Given the description of an element on the screen output the (x, y) to click on. 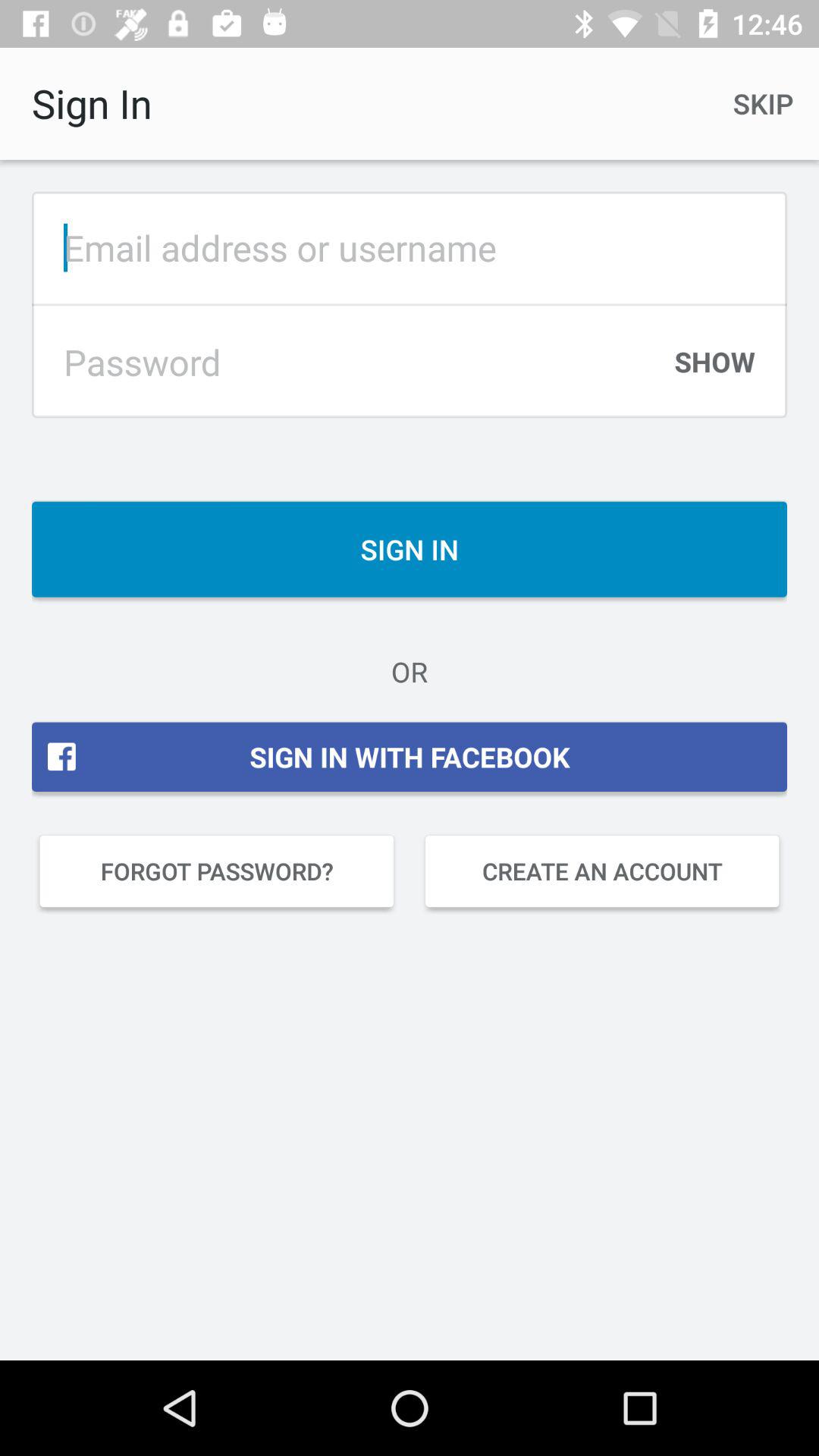
click item below the sign in with (216, 871)
